Given the description of an element on the screen output the (x, y) to click on. 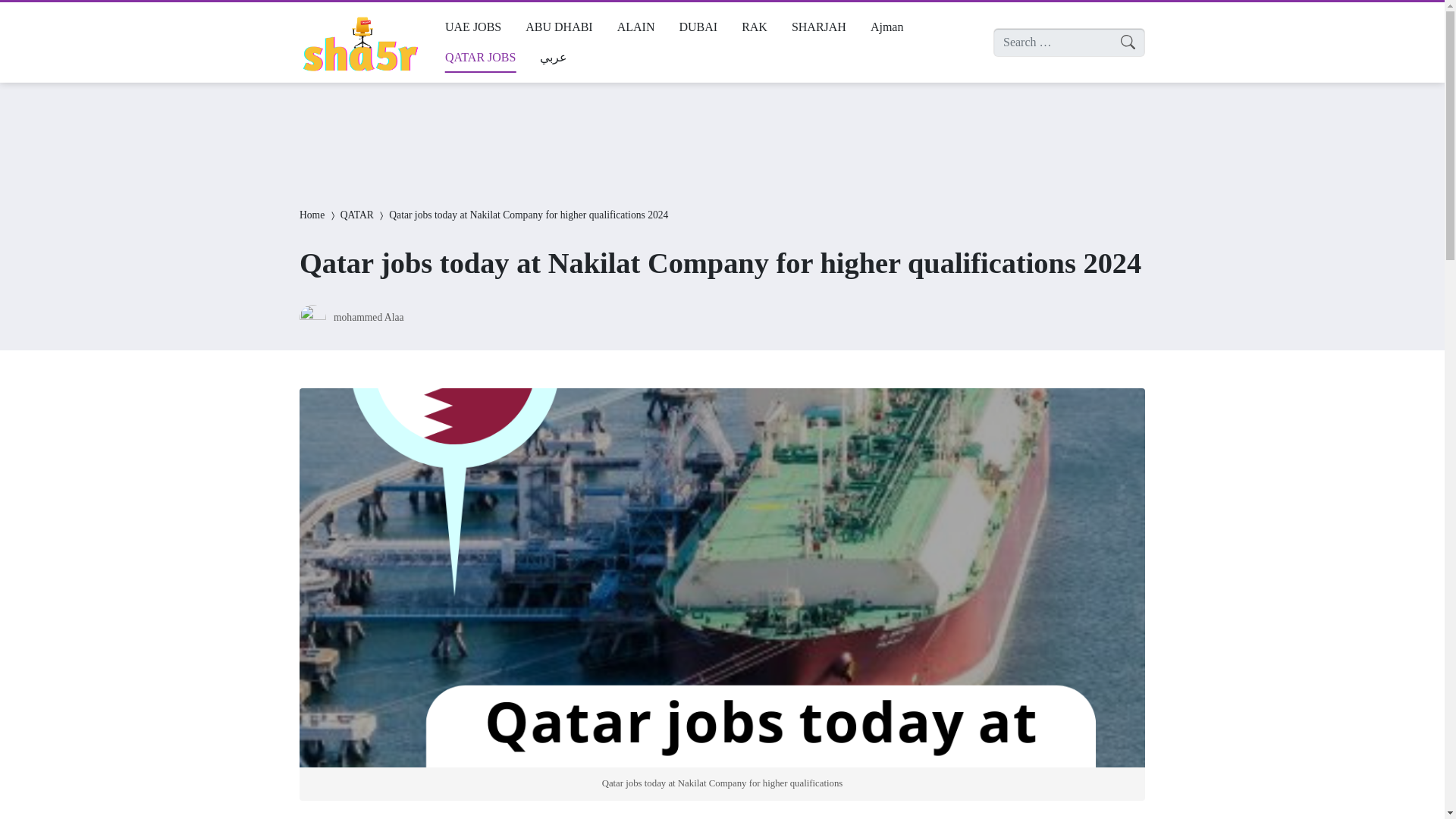
QATAR JOBS (479, 57)
UAE JOBS (472, 27)
Search (26, 14)
Home (311, 214)
ALAIN (635, 27)
QATAR (357, 214)
ABU DHABI (558, 27)
SHARJAH (818, 27)
sha5r (359, 42)
DUBAI (697, 27)
Ajman (887, 27)
Show all posts by author (368, 317)
RAK (753, 27)
mohammed Alaa (368, 317)
